Given the description of an element on the screen output the (x, y) to click on. 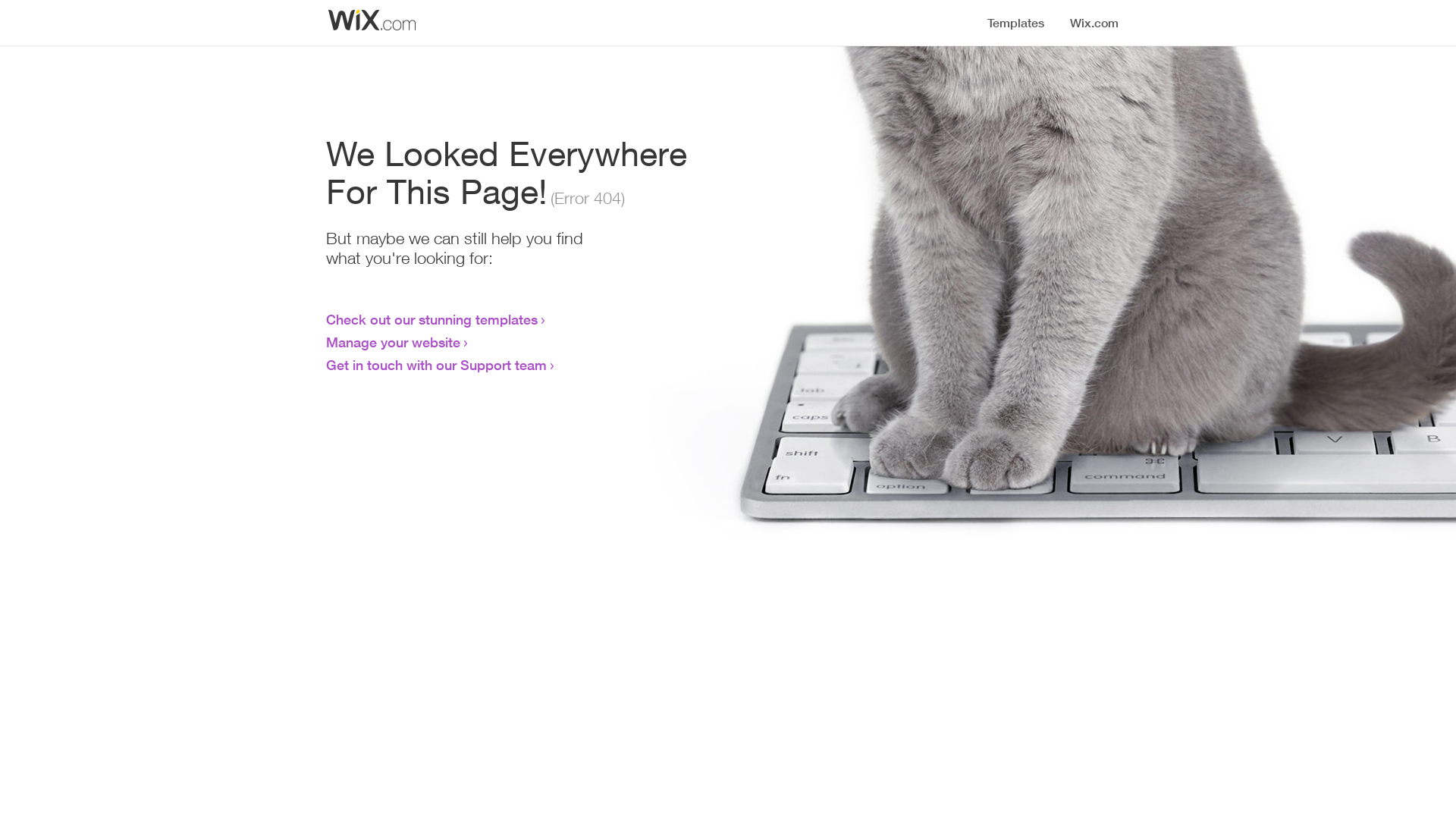
Check out our stunning templates Element type: text (431, 318)
Get in touch with our Support team Element type: text (436, 364)
Manage your website Element type: text (393, 341)
